Given the description of an element on the screen output the (x, y) to click on. 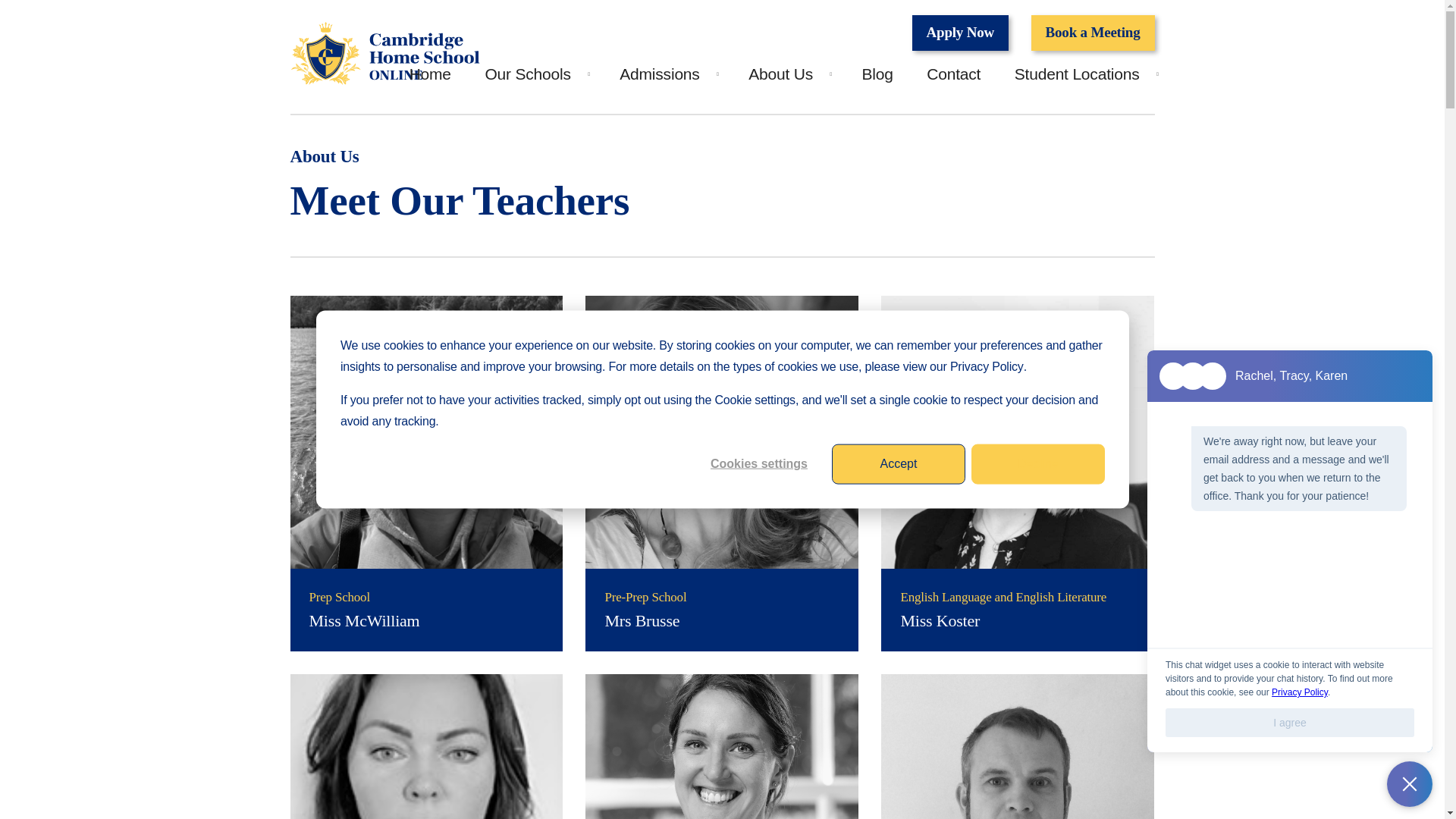
Privacy Policy (986, 366)
